Given the description of an element on the screen output the (x, y) to click on. 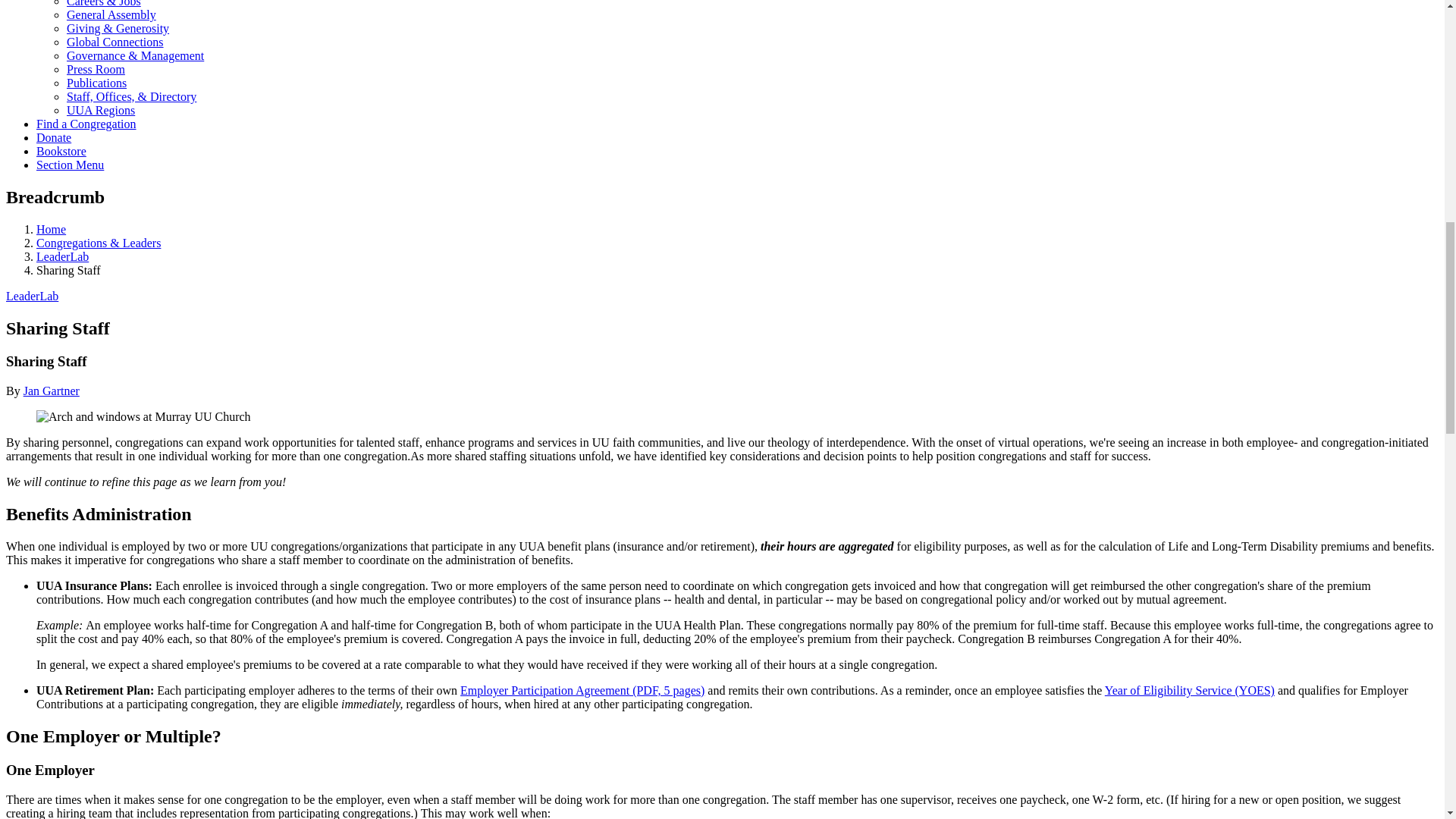
Image courtesy of GregW on UU Flickr (143, 417)
